Given the description of an element on the screen output the (x, y) to click on. 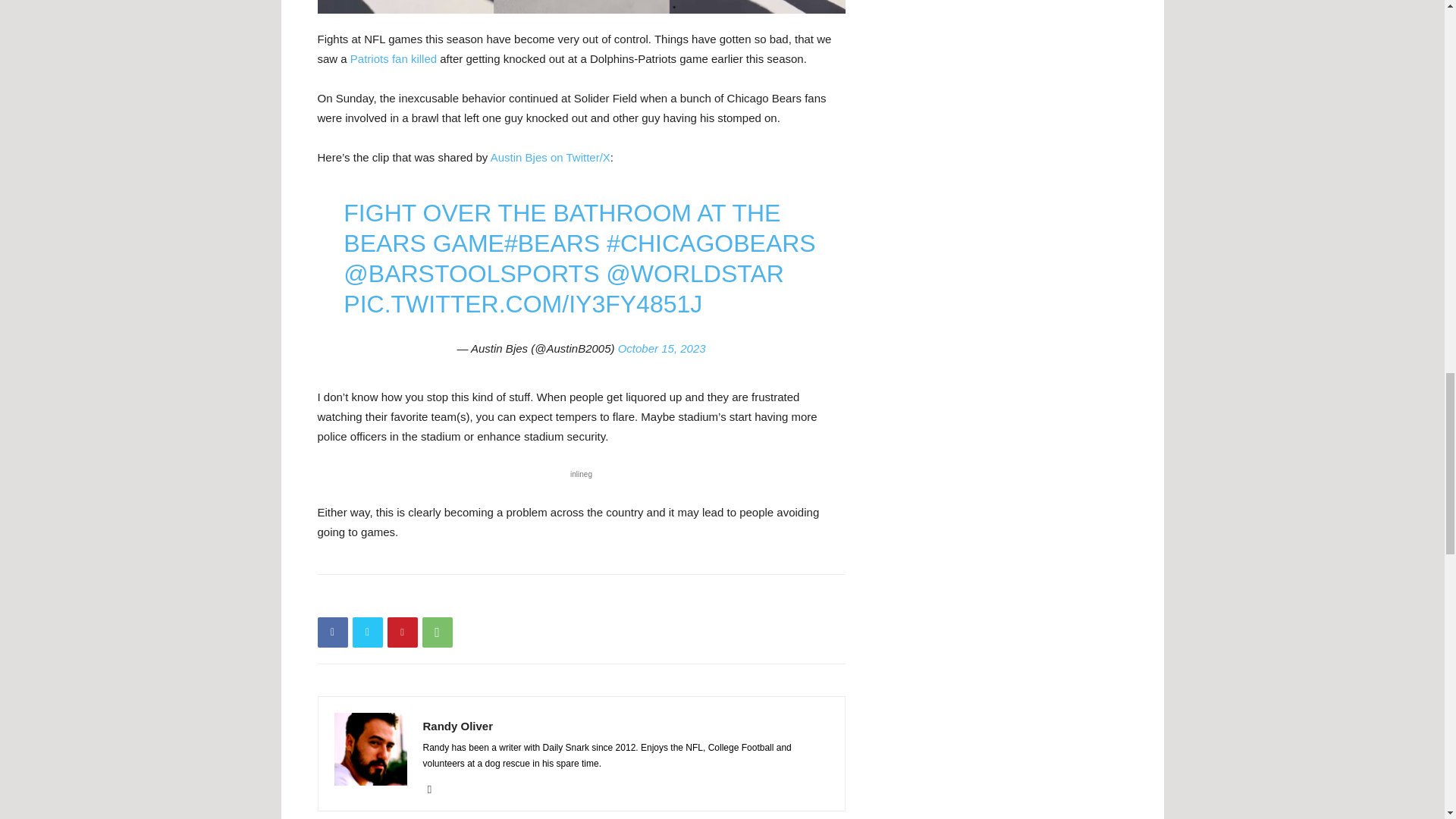
October 15, 2023 (661, 348)
bottomFacebookLike (430, 598)
Patriots fan killed (393, 58)
